Given the description of an element on the screen output the (x, y) to click on. 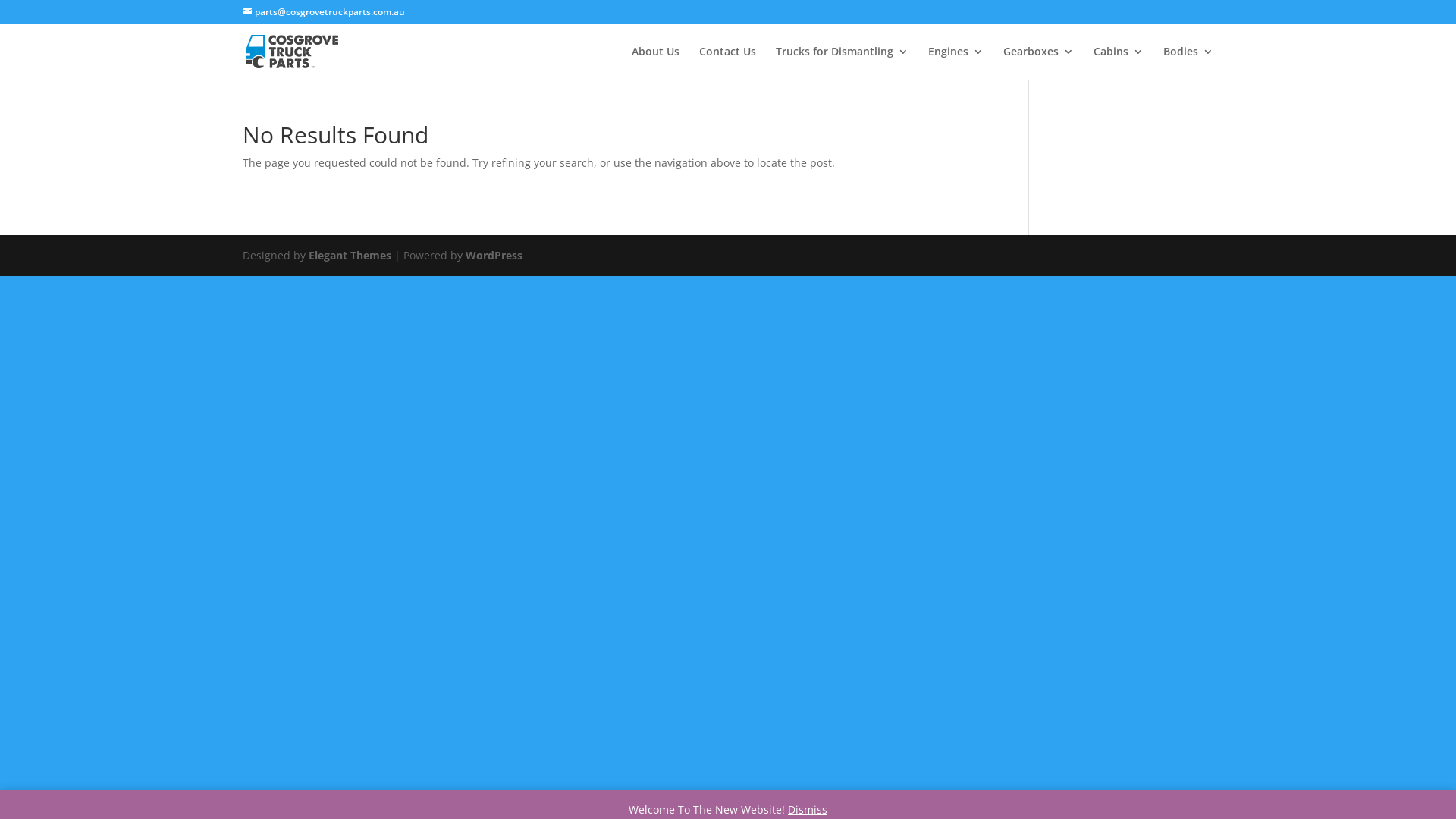
About Us Element type: text (655, 62)
Bodies Element type: text (1188, 62)
Elegant Themes Element type: text (349, 254)
Trucks for Dismantling Element type: text (841, 62)
Engines Element type: text (955, 62)
Dismiss Element type: text (807, 809)
Cabins Element type: text (1118, 62)
Gearboxes Element type: text (1038, 62)
Contact Us Element type: text (727, 62)
parts@cosgrovetruckparts.com.au Element type: text (323, 11)
WordPress Element type: text (493, 254)
